Given the description of an element on the screen output the (x, y) to click on. 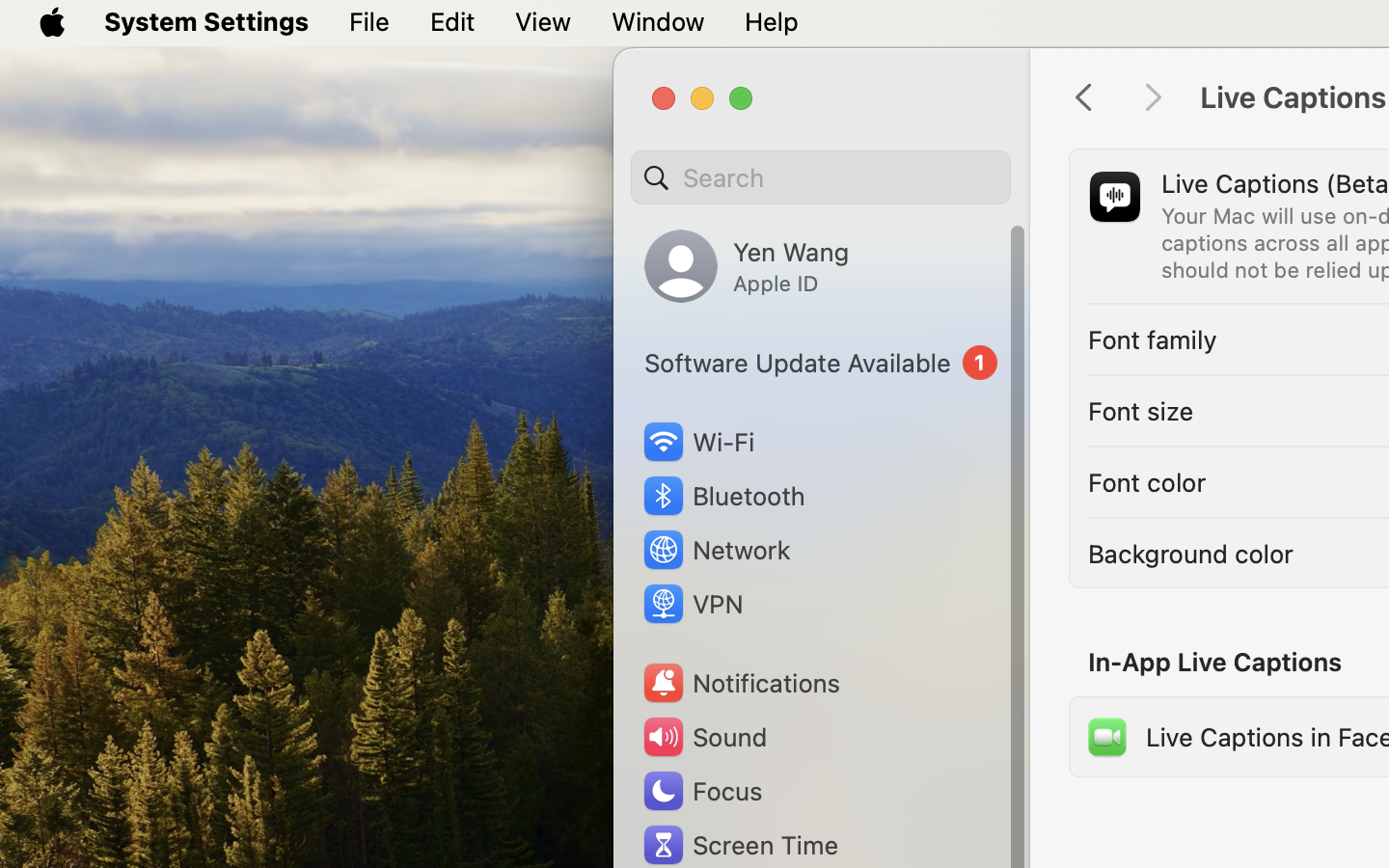
Notifications Element type: AXStaticText (740, 682)
Screen Time Element type: AXStaticText (739, 844)
Focus Element type: AXStaticText (701, 790)
Yen Wang, Apple ID Element type: AXStaticText (746, 265)
Background color Element type: AXStaticText (1191, 553)
